Given the description of an element on the screen output the (x, y) to click on. 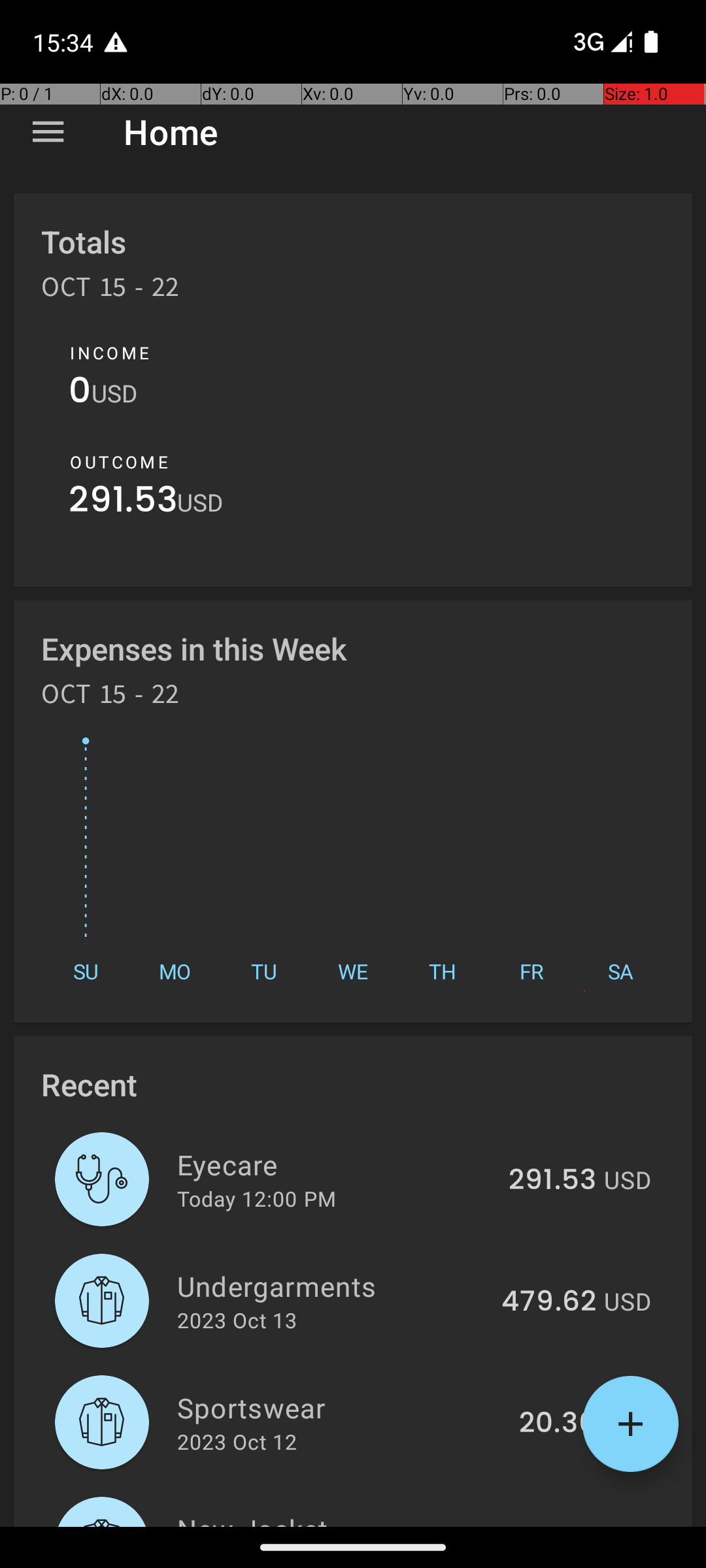
Totals Element type: android.widget.TextView (83, 240)
OCT 15 - 22 Element type: android.widget.TextView (110, 291)
INCOME Element type: android.widget.TextView (109, 352)
USD Element type: android.widget.TextView (114, 392)
OUTCOME Element type: android.widget.TextView (118, 461)
291.53 Element type: android.widget.TextView (122, 502)
Expenses in this Week Element type: android.widget.TextView (194, 648)
Recent Element type: android.widget.TextView (89, 1083)
Eyecare Element type: android.widget.TextView (335, 1164)
Today 12:00 PM Element type: android.widget.TextView (256, 1198)
Undergarments Element type: android.widget.TextView (331, 1285)
2023 Oct 13 Element type: android.widget.TextView (236, 1320)
479.62 Element type: android.widget.TextView (548, 1301)
Sportswear Element type: android.widget.TextView (340, 1407)
2023 Oct 12 Element type: android.widget.TextView (236, 1441)
20.36 Element type: android.widget.TextView (557, 1423)
New Jacket Element type: android.widget.TextView (334, 1518)
351.64 Element type: android.widget.TextView (550, 1524)
